Given the description of an element on the screen output the (x, y) to click on. 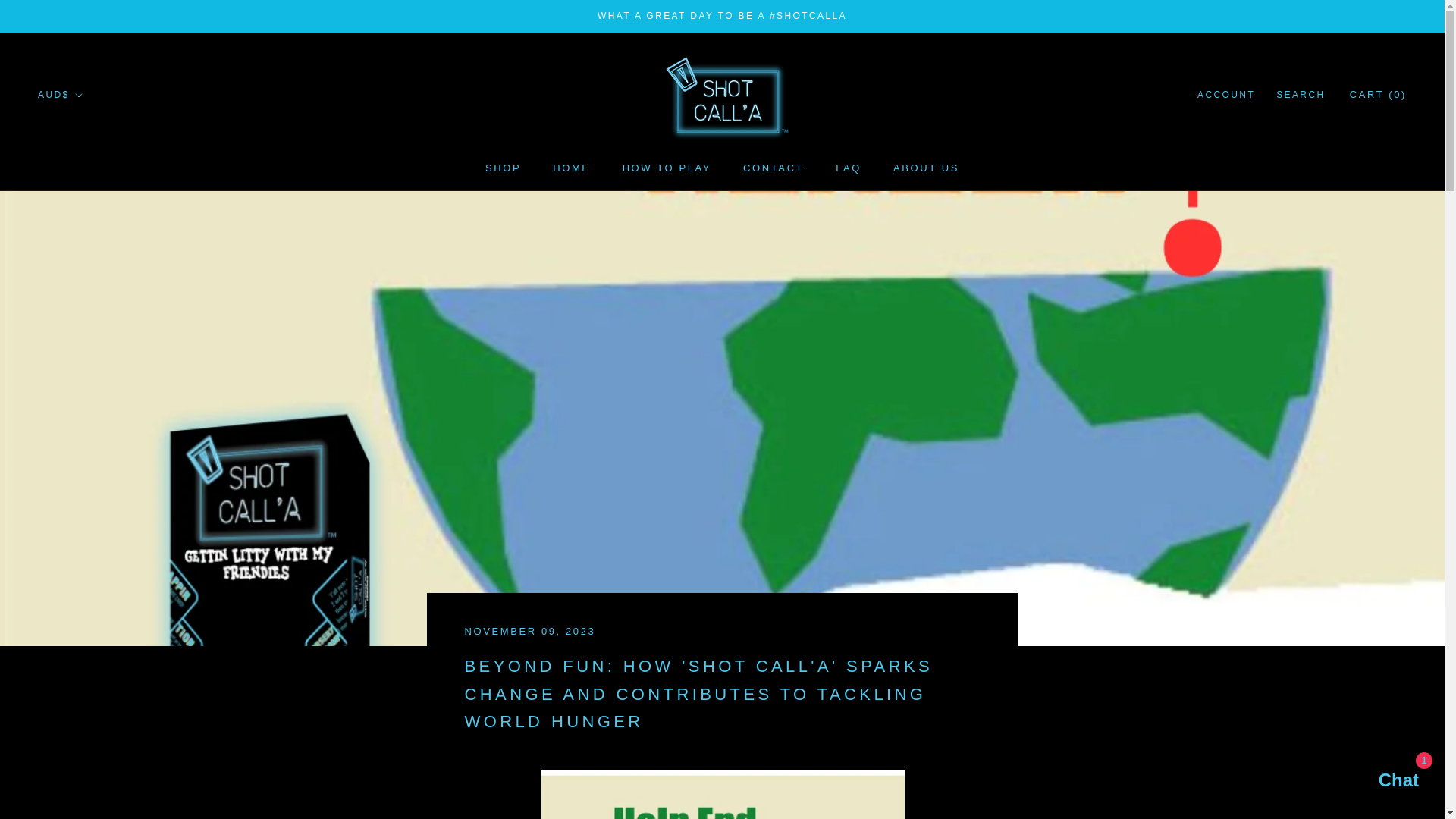
USD (79, 196)
CAD (667, 167)
AUD (79, 151)
ACCOUNT (502, 167)
GBP (848, 167)
Shopify online store chat (79, 128)
SEARCH (926, 167)
